Given the description of an element on the screen output the (x, y) to click on. 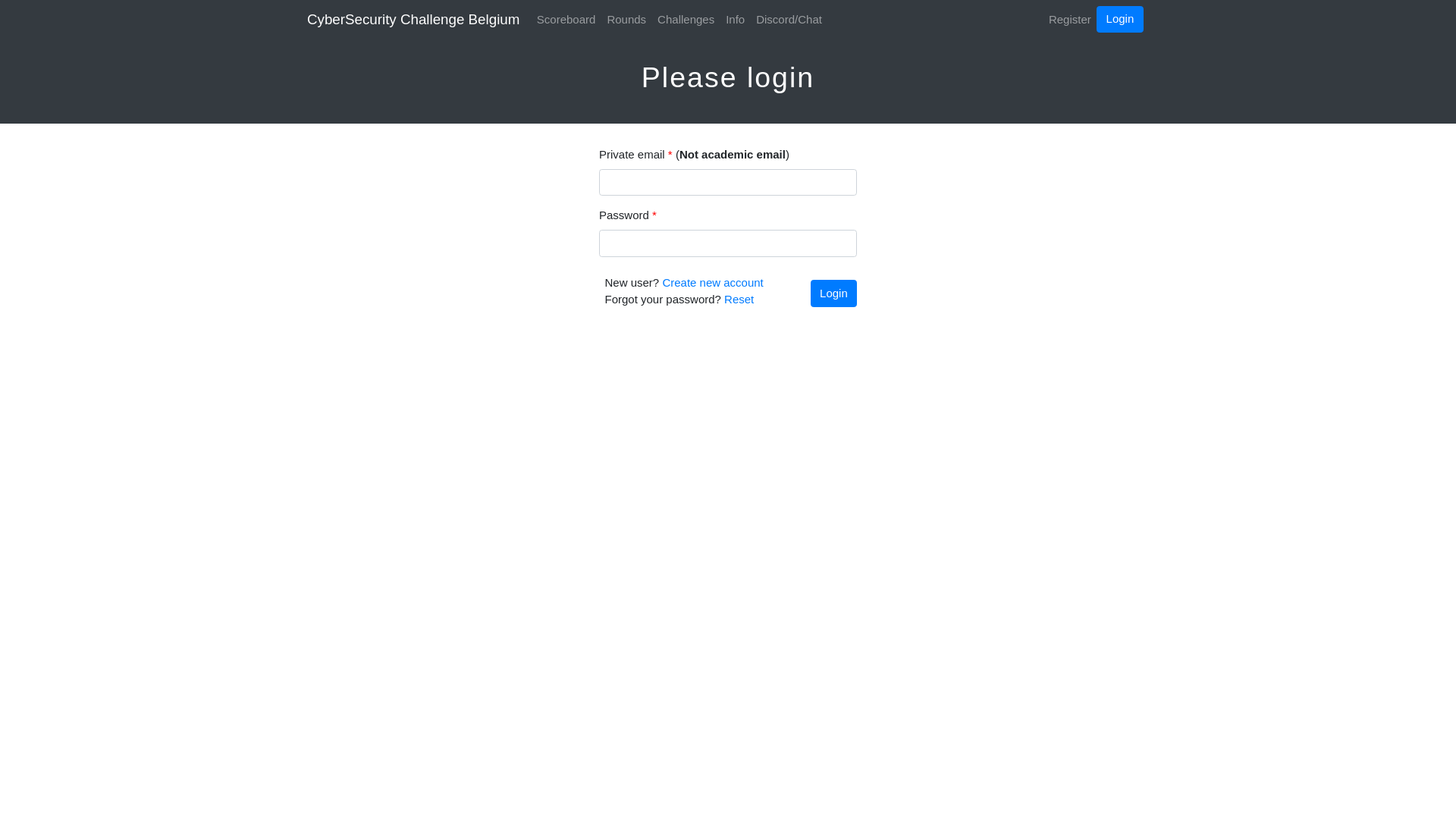
Scoreboard Element type: text (565, 20)
Reset Element type: text (738, 298)
Discord/Chat Element type: text (789, 20)
Create new account Element type: text (712, 282)
Login Element type: text (1119, 19)
CyberSecurity Challenge Belgium Element type: text (413, 20)
Info Element type: text (735, 20)
Login Element type: text (833, 293)
Rounds Element type: text (626, 20)
Register Element type: text (1069, 20)
Challenges Element type: text (686, 20)
